Given the description of an element on the screen output the (x, y) to click on. 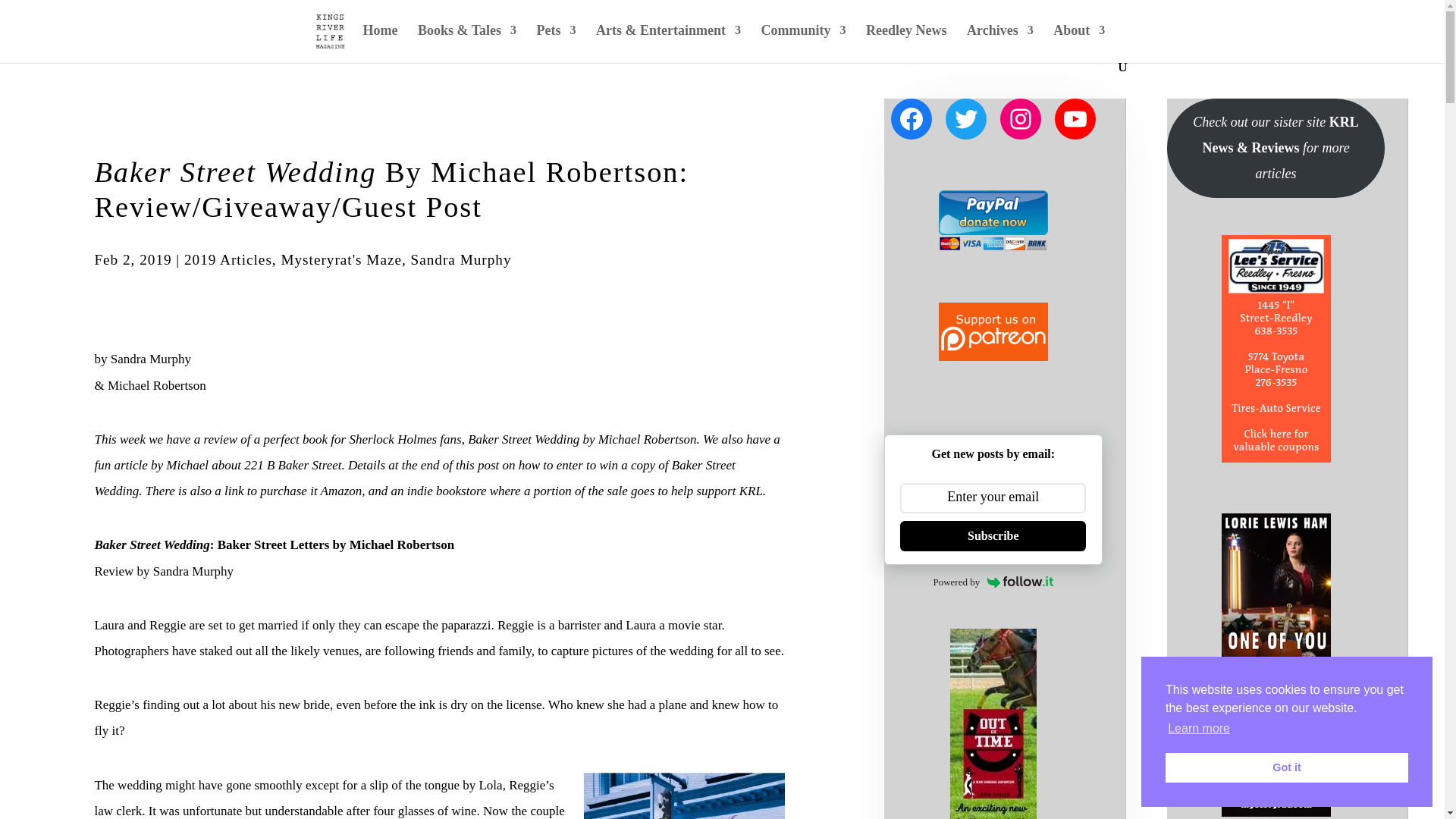
Pets (556, 42)
Archives (999, 42)
Home (379, 42)
Community (802, 42)
Reedley News (906, 42)
